Given the description of an element on the screen output the (x, y) to click on. 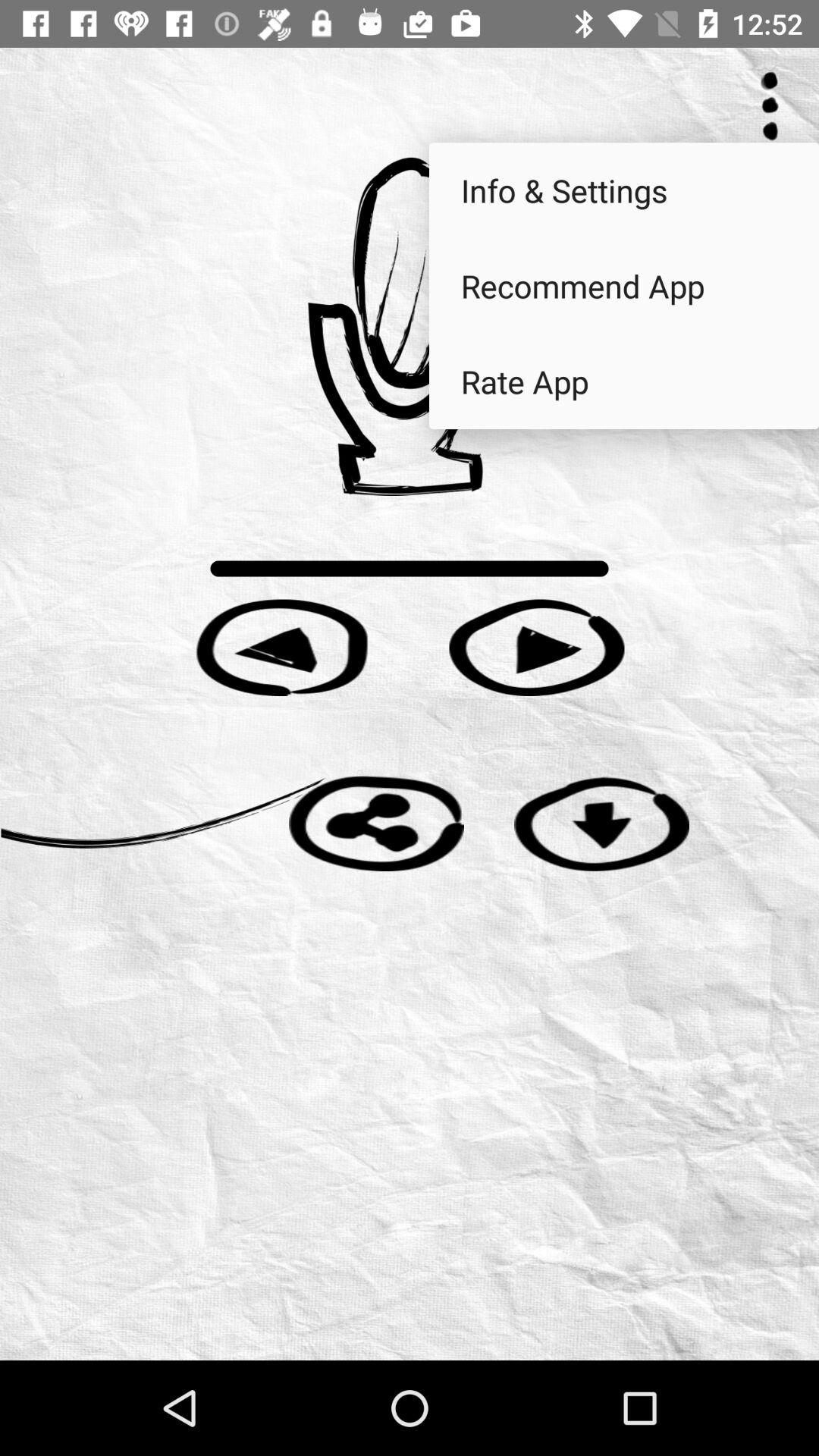
share track (376, 823)
